Given the description of an element on the screen output the (x, y) to click on. 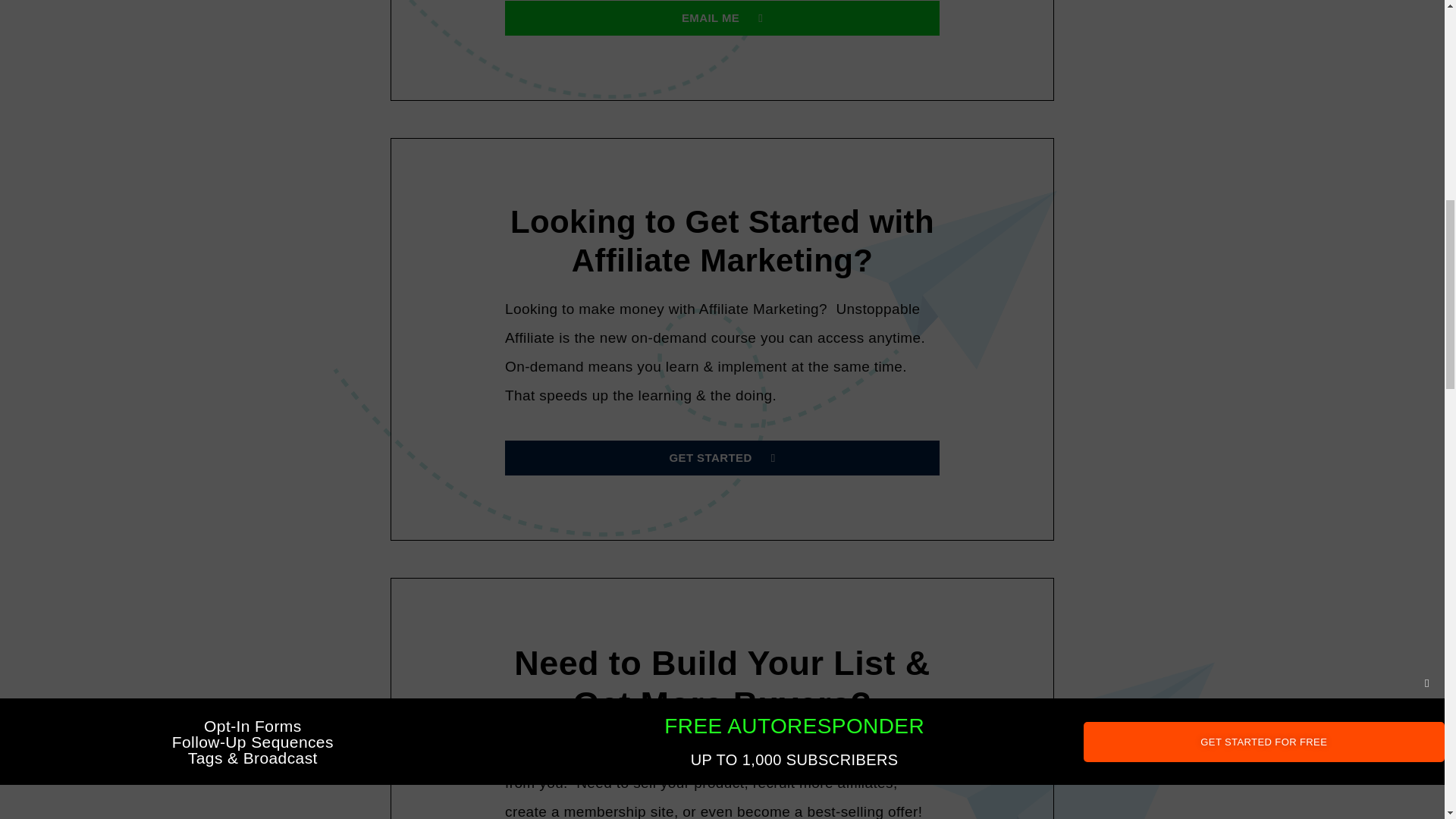
GET STARTED (722, 457)
EMAIL ME (722, 18)
